Given the description of an element on the screen output the (x, y) to click on. 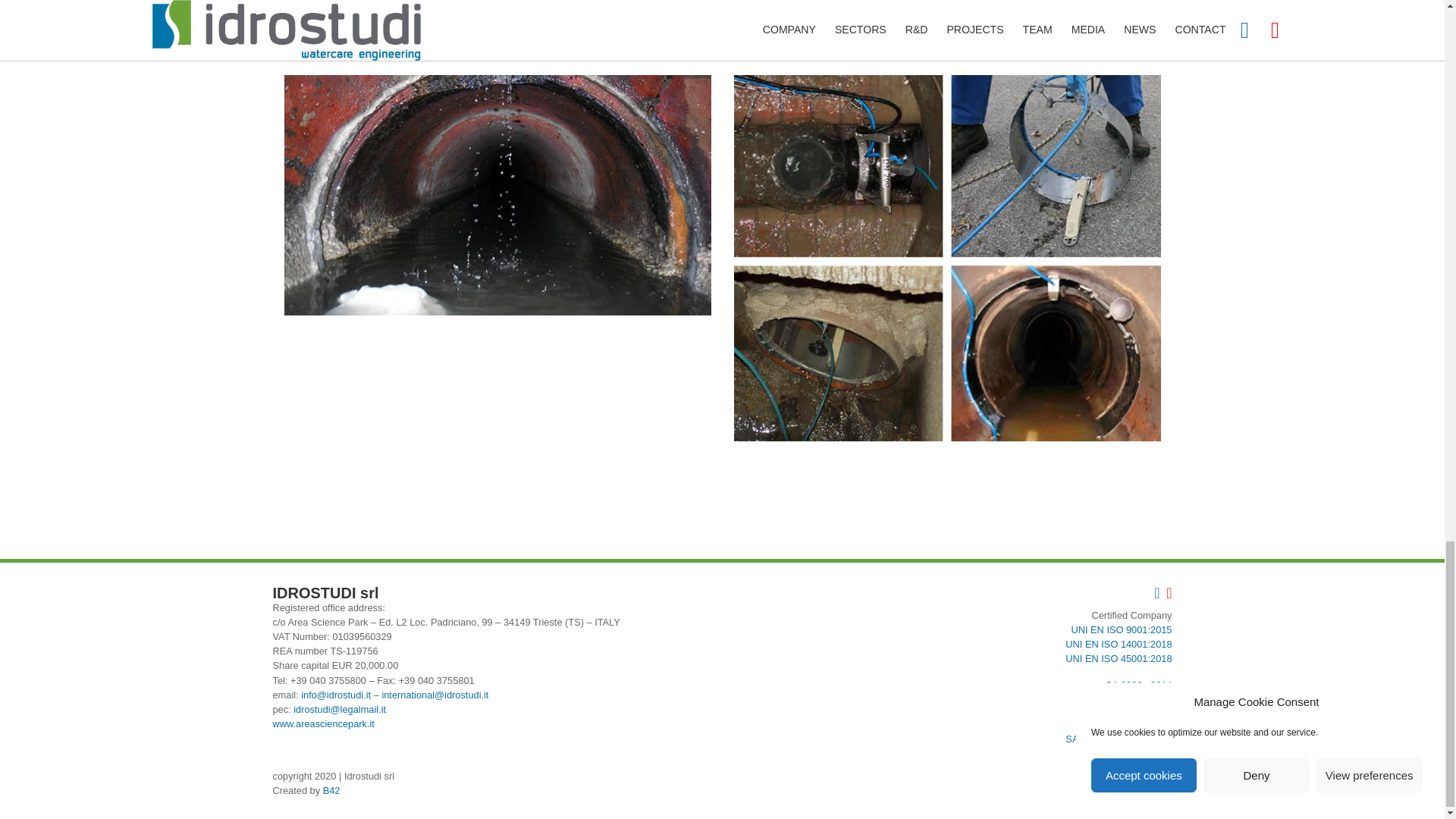
UNI EN ISO 9001:2015 (1121, 629)
UNI EN ISO 14001:2018 (1118, 644)
www.areasciencepark.it (323, 723)
